Given the description of an element on the screen output the (x, y) to click on. 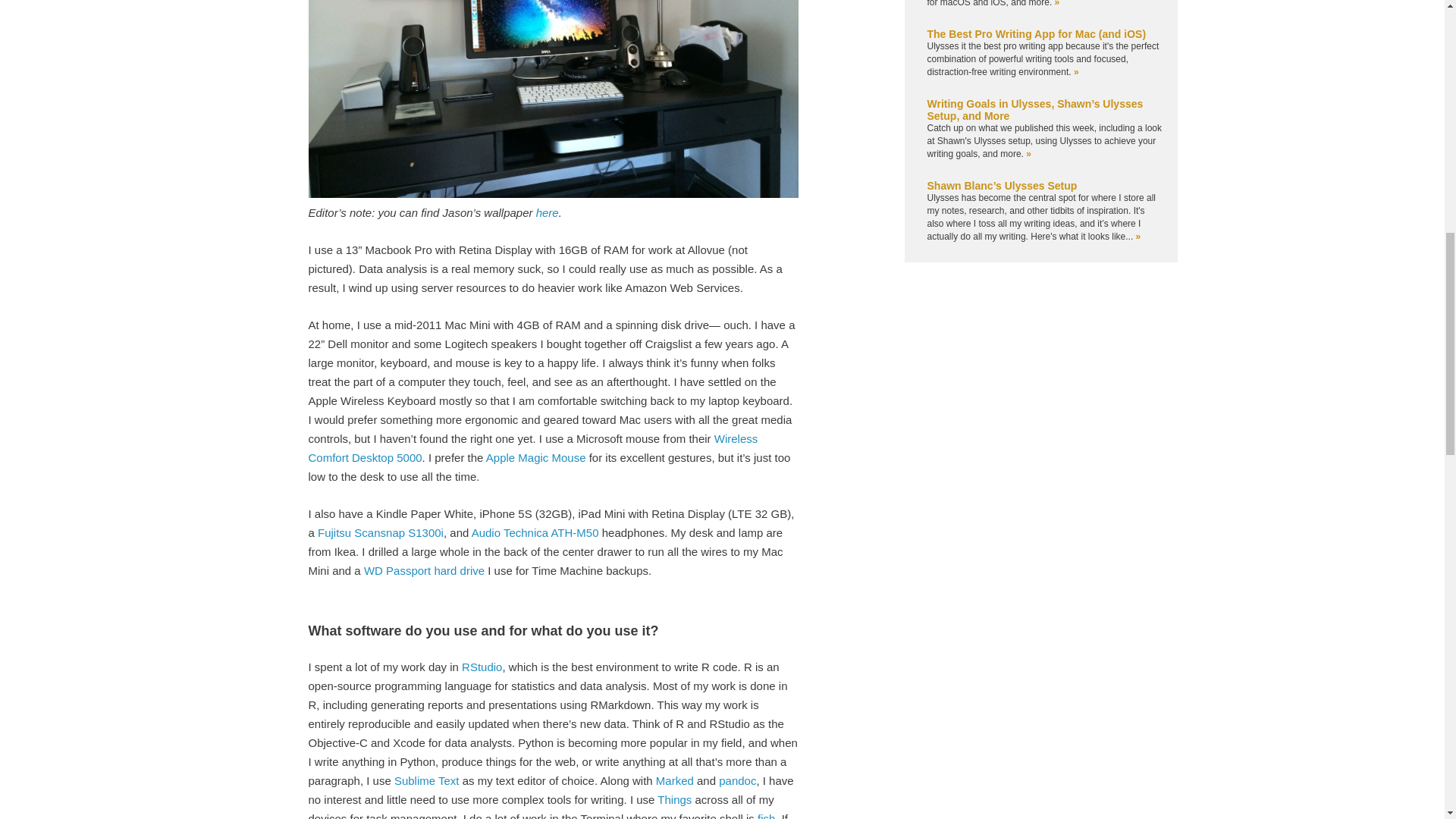
Audio Technica ATH-M50 (534, 532)
Things (674, 799)
RStudio (481, 666)
fish (765, 815)
pandoc (737, 779)
Sublime Text (427, 779)
WD Passport hard drive (424, 570)
Marked (675, 779)
Apple Magic Mouse (536, 456)
Wireless Comfort Desktop 5000 (532, 448)
here (547, 212)
Fujitsu Scansnap S1300i (380, 532)
